Given the description of an element on the screen output the (x, y) to click on. 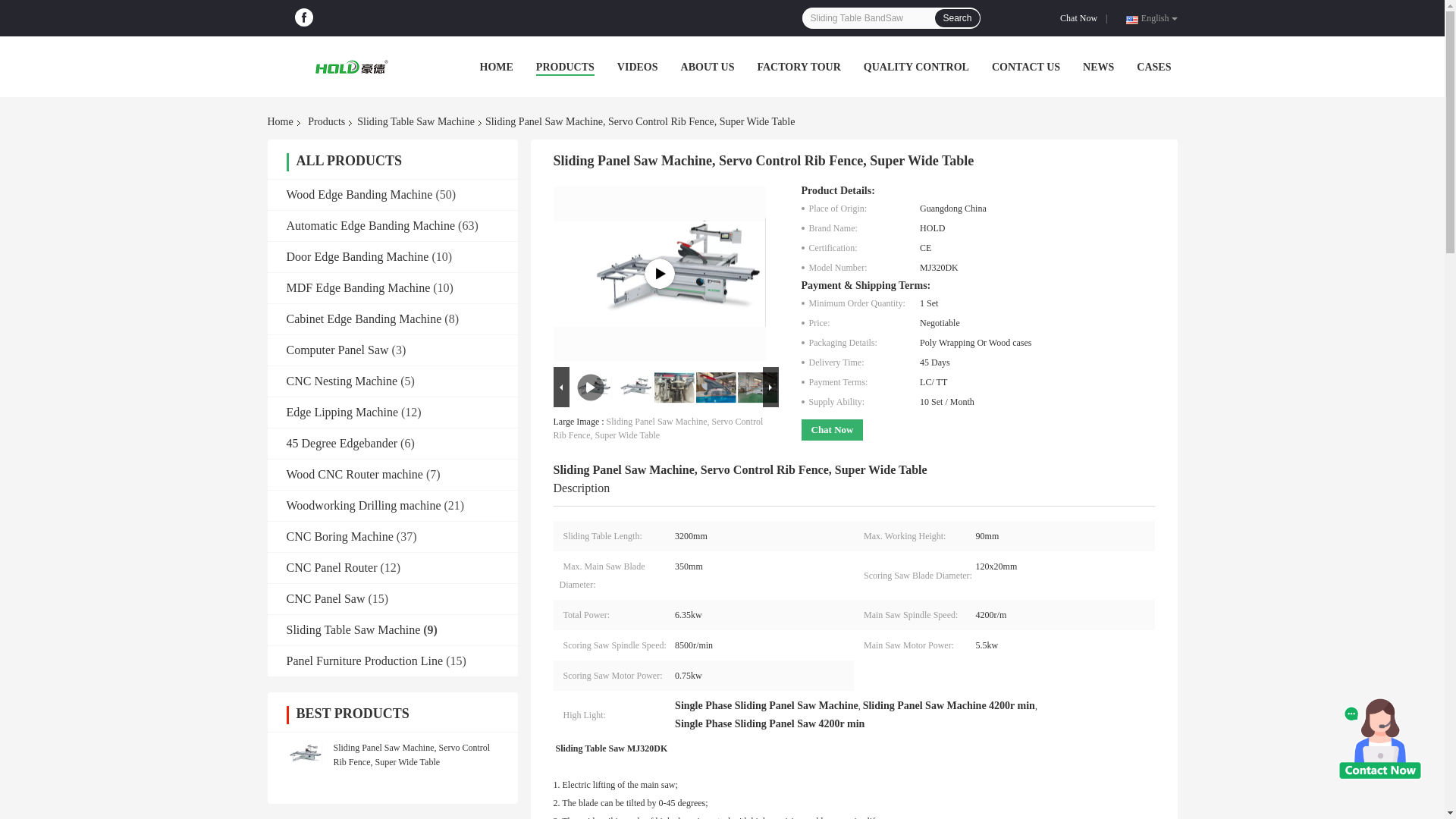
Products (325, 121)
Search (956, 18)
PRODUCTS (564, 66)
HOME (495, 66)
Foshan Hold Machinery Co., Ltd. Facebook (303, 17)
CASES (1153, 66)
QUALITY CONTROL (916, 66)
VIDEOS (637, 66)
Sliding Table Saw Machine (415, 121)
FACTORY TOUR (798, 66)
